Given the description of an element on the screen output the (x, y) to click on. 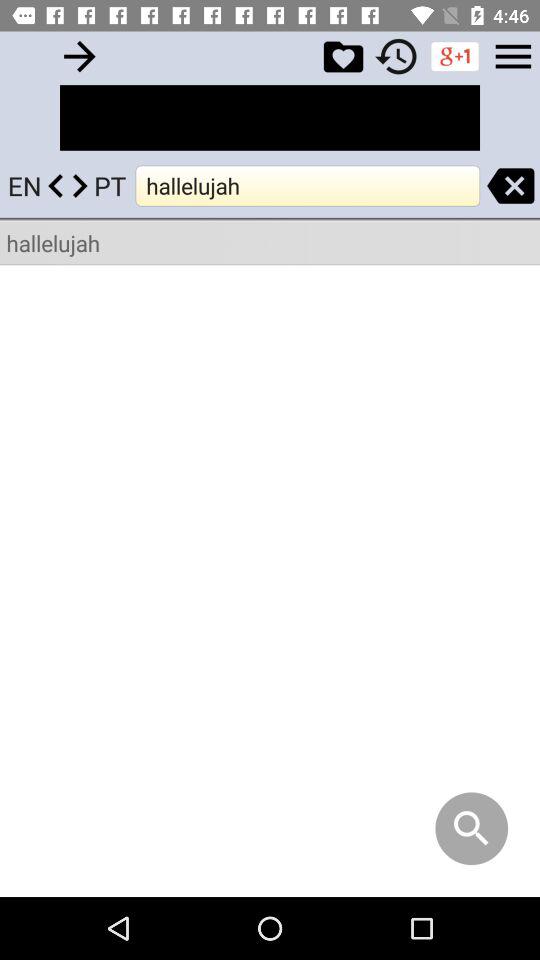
enter text (79, 56)
